Given the description of an element on the screen output the (x, y) to click on. 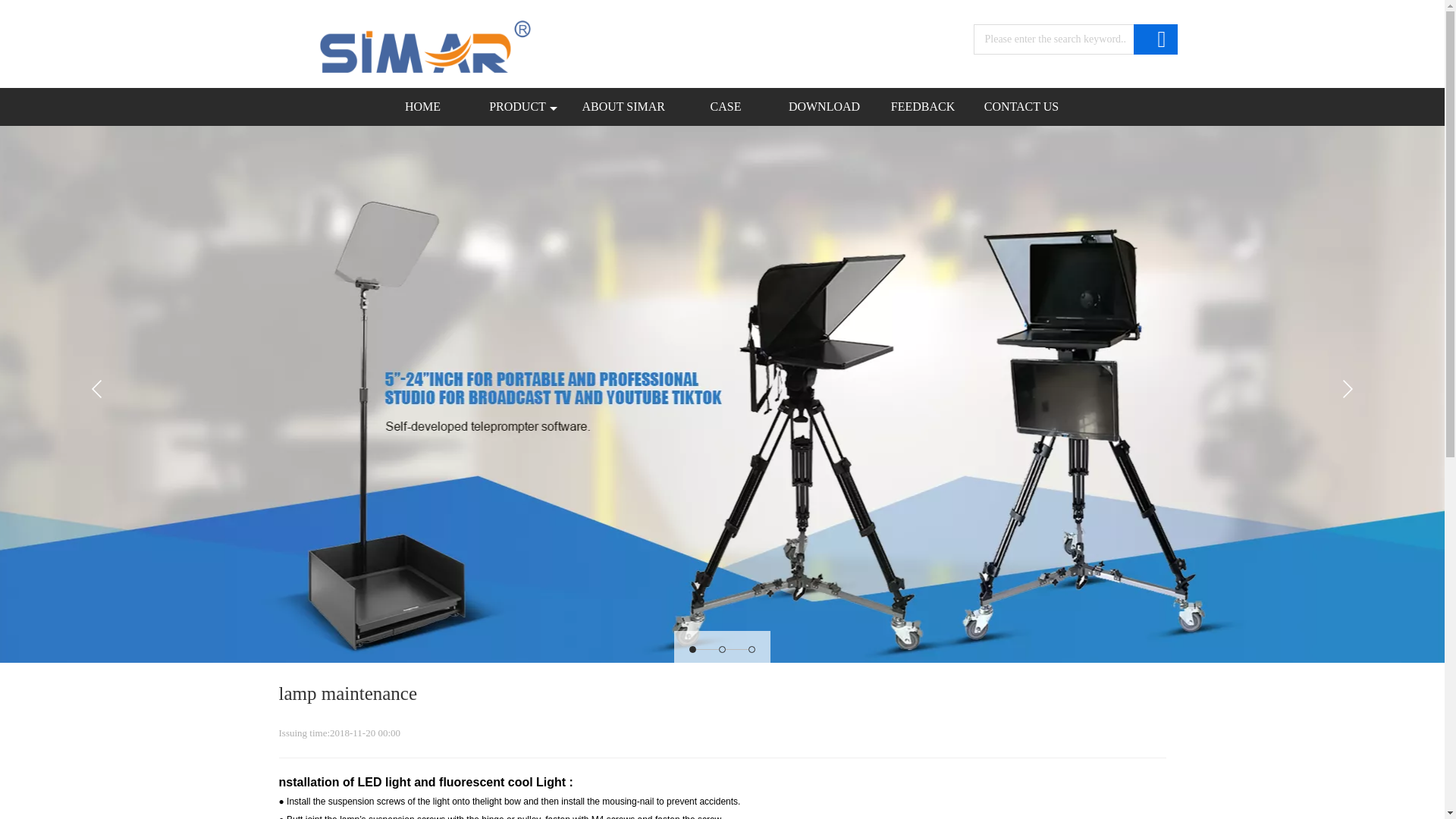
CONTACT US (1021, 106)
www.simarcn.com (425, 46)
HOME (423, 106)
FEEDBACK (922, 106)
CASE (724, 106)
ABOUT SIMAR (623, 106)
DOWNLOAD (823, 106)
PRODUCT (521, 106)
